Given the description of an element on the screen output the (x, y) to click on. 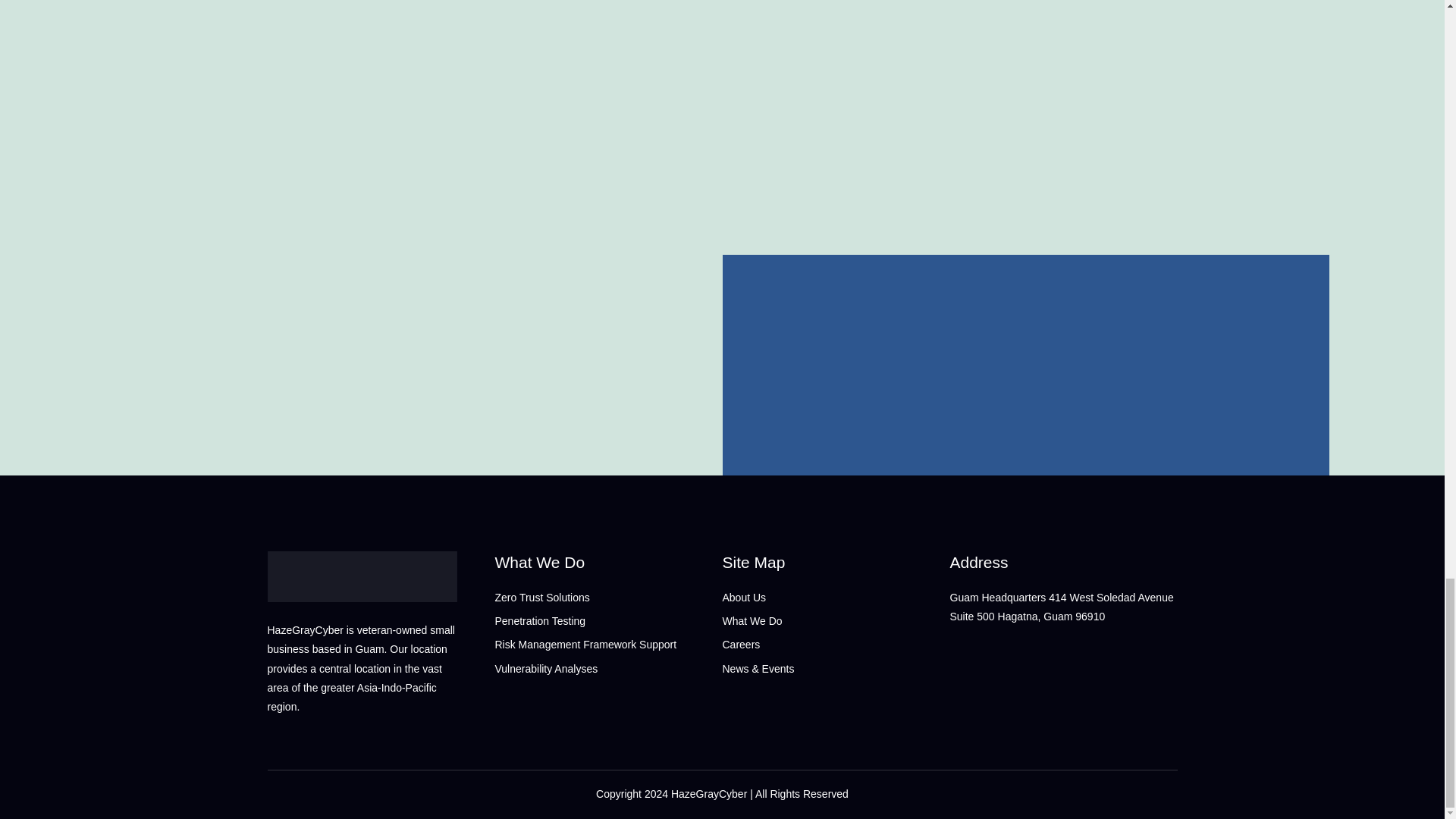
Address (1062, 562)
What We Do (835, 620)
Careers (835, 644)
Penetration Testing (608, 620)
Site Map (835, 562)
Zero Trust Solutions (608, 597)
What We Do (608, 562)
About Us (835, 597)
Risk Management Framework Support (608, 644)
Vulnerability Analyses (608, 669)
